Given the description of an element on the screen output the (x, y) to click on. 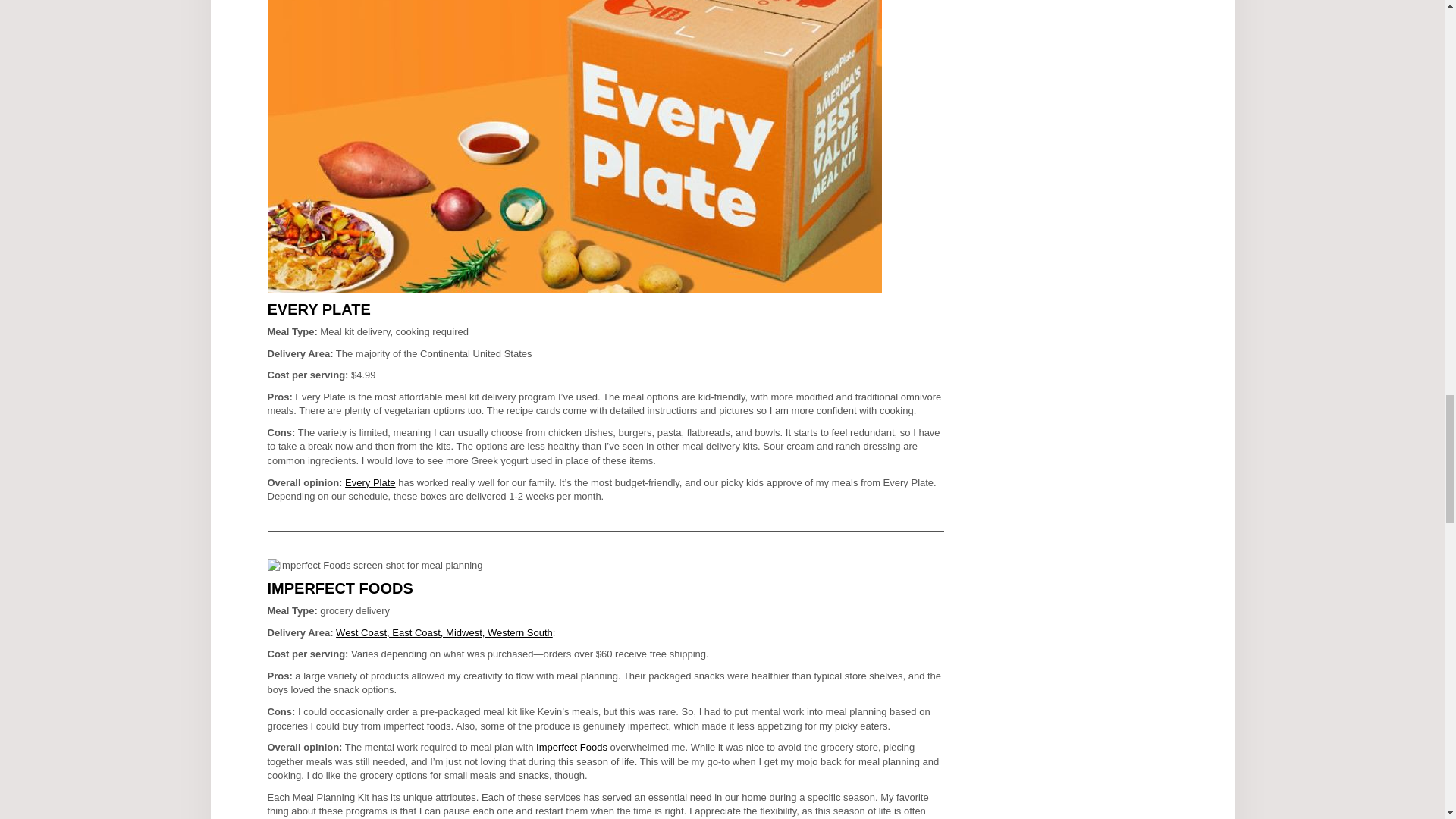
Every Plate (369, 482)
West Coast, East Coast, Midwest, Western South (444, 632)
Imperfect Foods (571, 747)
